Given the description of an element on the screen output the (x, y) to click on. 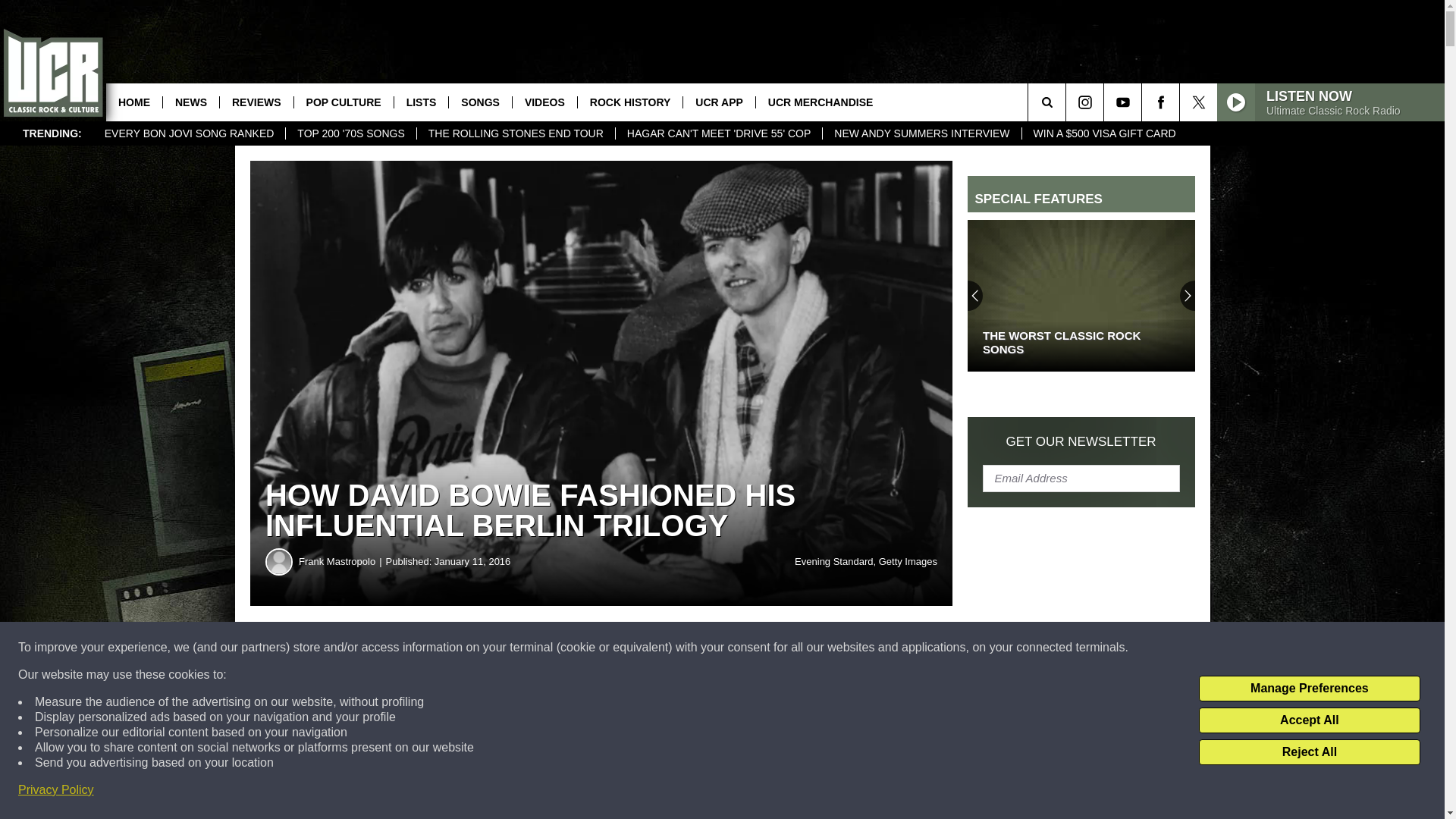
UCR MERCHANDISE (820, 102)
EVERY BON JOVI SONG RANKED (189, 133)
David Bowie (416, 700)
SEARCH (1068, 102)
SHARE (460, 647)
Privacy Policy (55, 789)
Visit us on Instagram (1084, 102)
UCR APP (718, 102)
Visit us on Youtube (1122, 102)
ROCK HISTORY (629, 102)
SEARCH (1068, 102)
REVIEWS (256, 102)
TOP 200 '70S SONGS (349, 133)
POP CULTURE (343, 102)
Frank Mastropolo (278, 561)
